Given the description of an element on the screen output the (x, y) to click on. 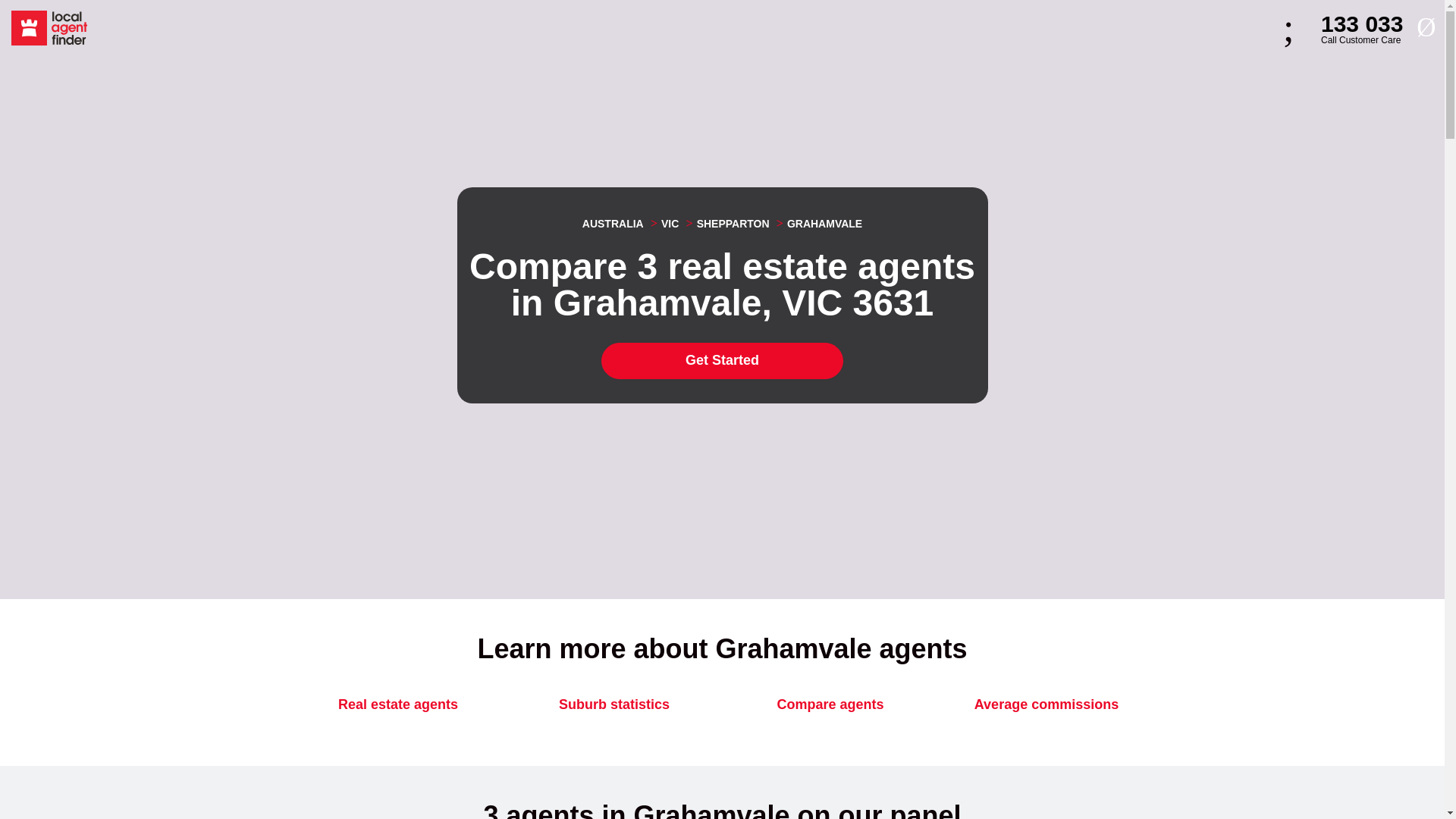
SHEPPARTON (726, 223)
GRAHAMVALE (817, 223)
Real Estate Agents Shepparton (726, 223)
Real Estate Agents Victoria (662, 223)
LocalAgentFinder (49, 28)
Compare agents (830, 705)
Call Customer Care at 133 033 (1343, 28)
AUSTRALIA (612, 223)
Average commissions (1343, 28)
VIC (1045, 705)
Real Estate Agents Grahamvale (662, 223)
Get Started (817, 223)
Suburb statistics (722, 361)
Real estate agents (613, 705)
